Given the description of an element on the screen output the (x, y) to click on. 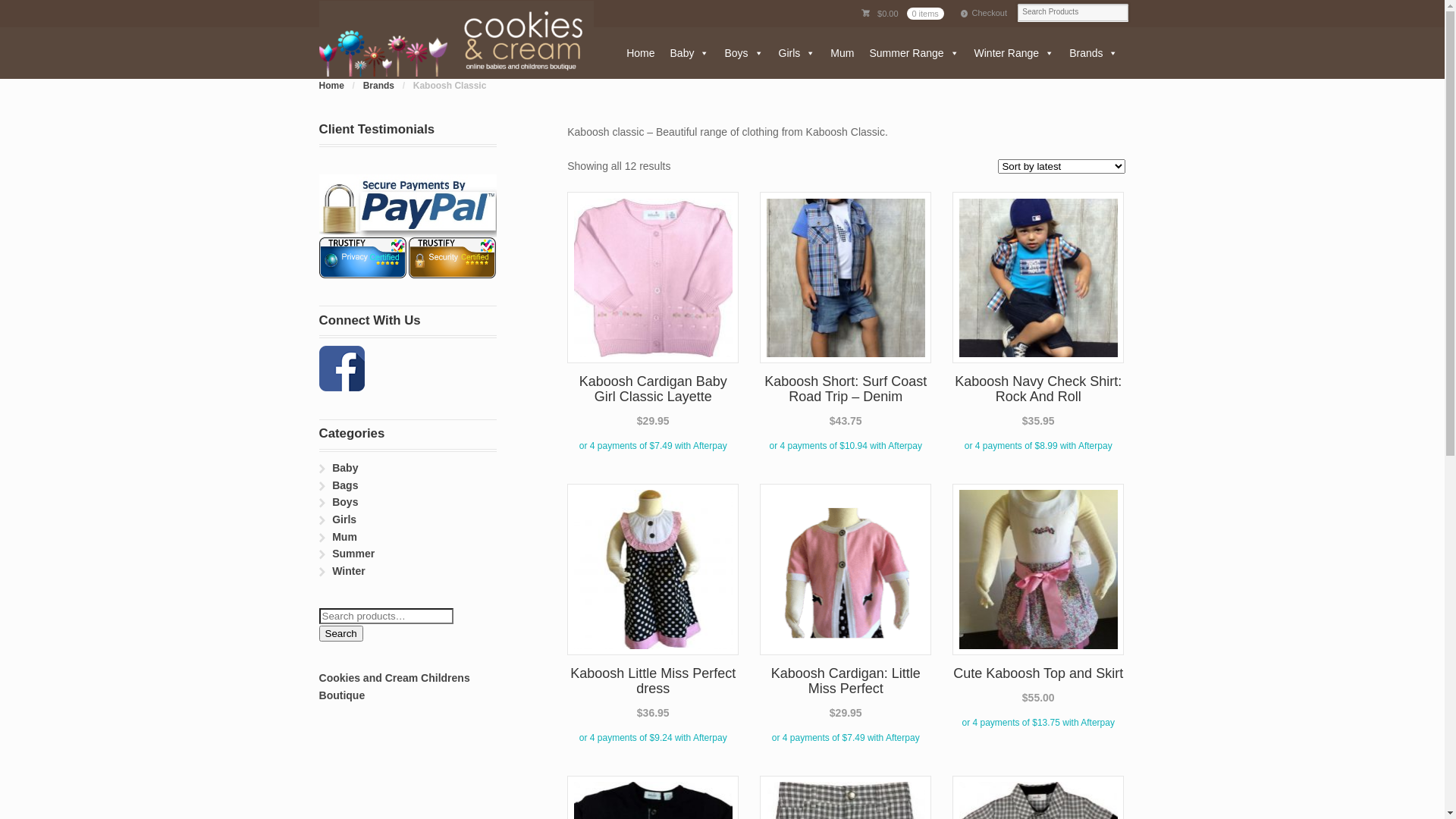
Summer Element type: text (353, 553)
Cookies and Cream Childrens Boutique Element type: text (394, 686)
Brands Element type: text (1093, 52)
Boys Element type: text (344, 501)
Baby Element type: text (344, 467)
Boys Element type: text (743, 52)
Bags Element type: text (344, 485)
Search Element type: text (55, 8)
$0.000 items Element type: text (902, 13)
Checkout Element type: text (983, 13)
Search Element type: text (341, 633)
Mum Element type: text (344, 536)
Home Element type: text (331, 85)
Winter Range Element type: text (1014, 52)
Home Element type: text (640, 52)
Brands Element type: text (378, 85)
Summer Range Element type: text (913, 52)
Girls Element type: text (797, 52)
Winter Element type: text (348, 570)
Girls Element type: text (344, 519)
Baby Element type: text (689, 52)
Mum Element type: text (841, 52)
